Given the description of an element on the screen output the (x, y) to click on. 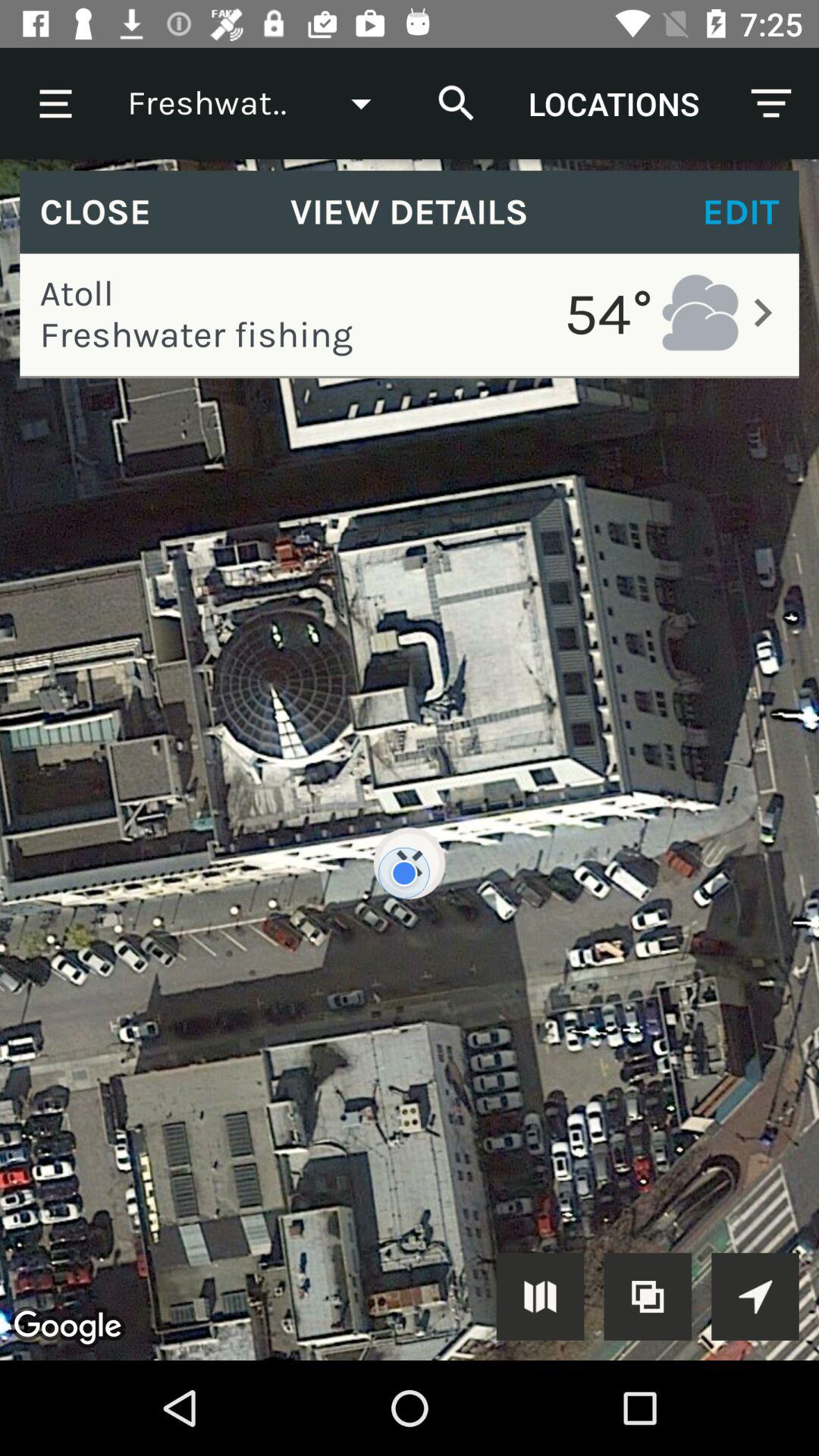
to change the direction (755, 1296)
